Given the description of an element on the screen output the (x, y) to click on. 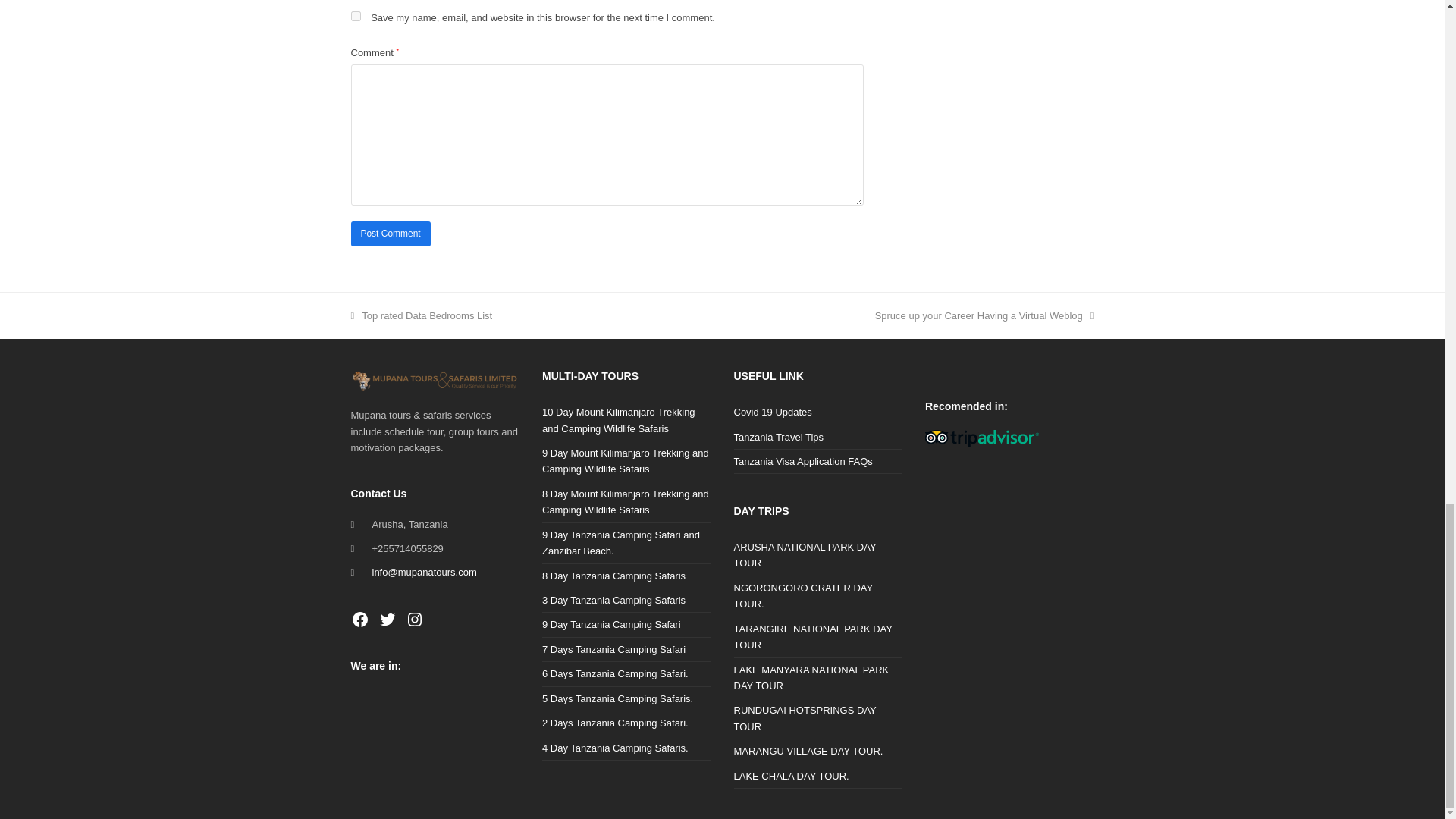
Post Comment (389, 233)
yes (354, 16)
